Given the description of an element on the screen output the (x, y) to click on. 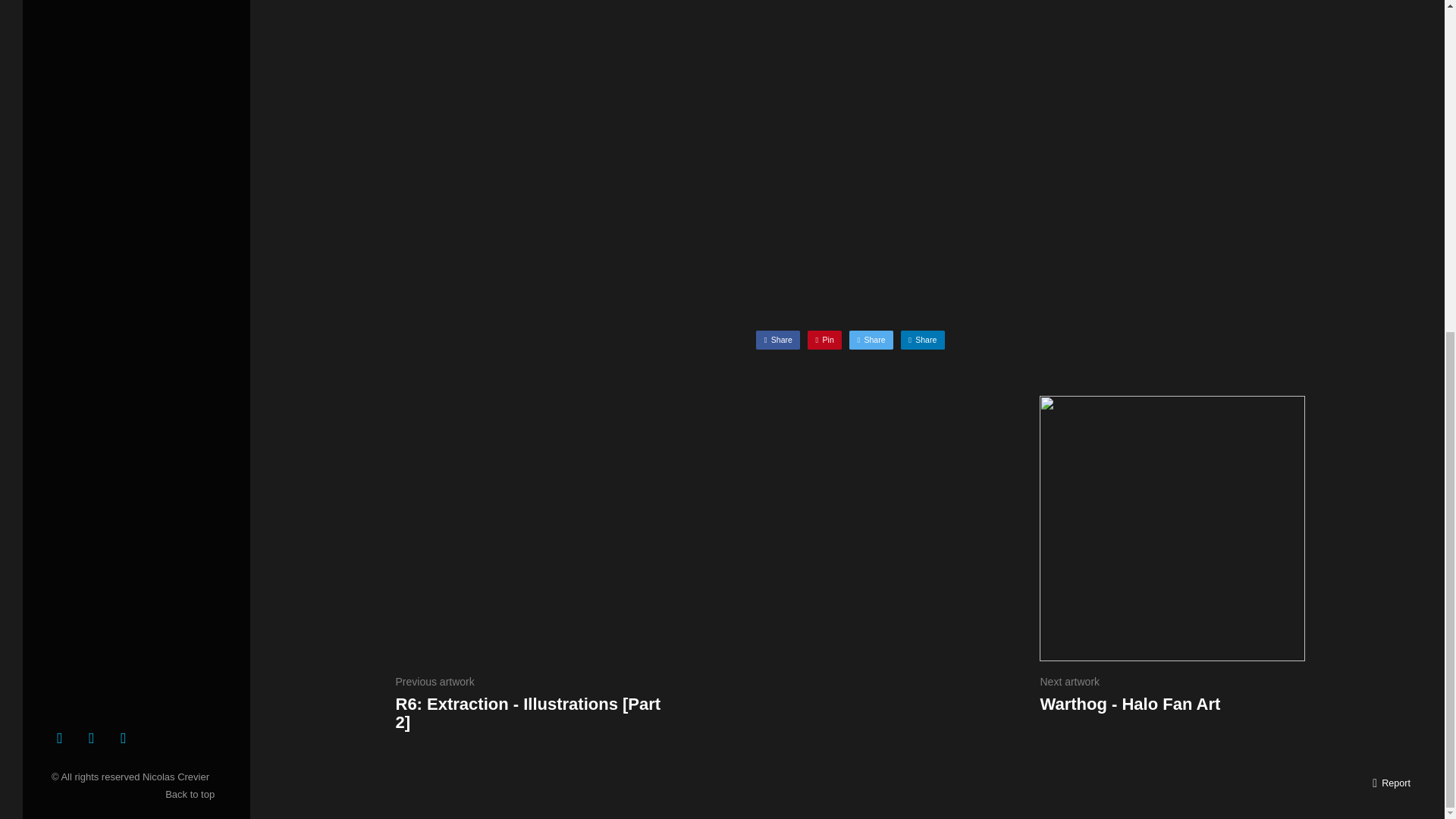
Back to top (193, 794)
Pin (824, 339)
Back to top (193, 794)
Share (922, 339)
Share (777, 339)
Report (1391, 783)
Share (870, 339)
